Given the description of an element on the screen output the (x, y) to click on. 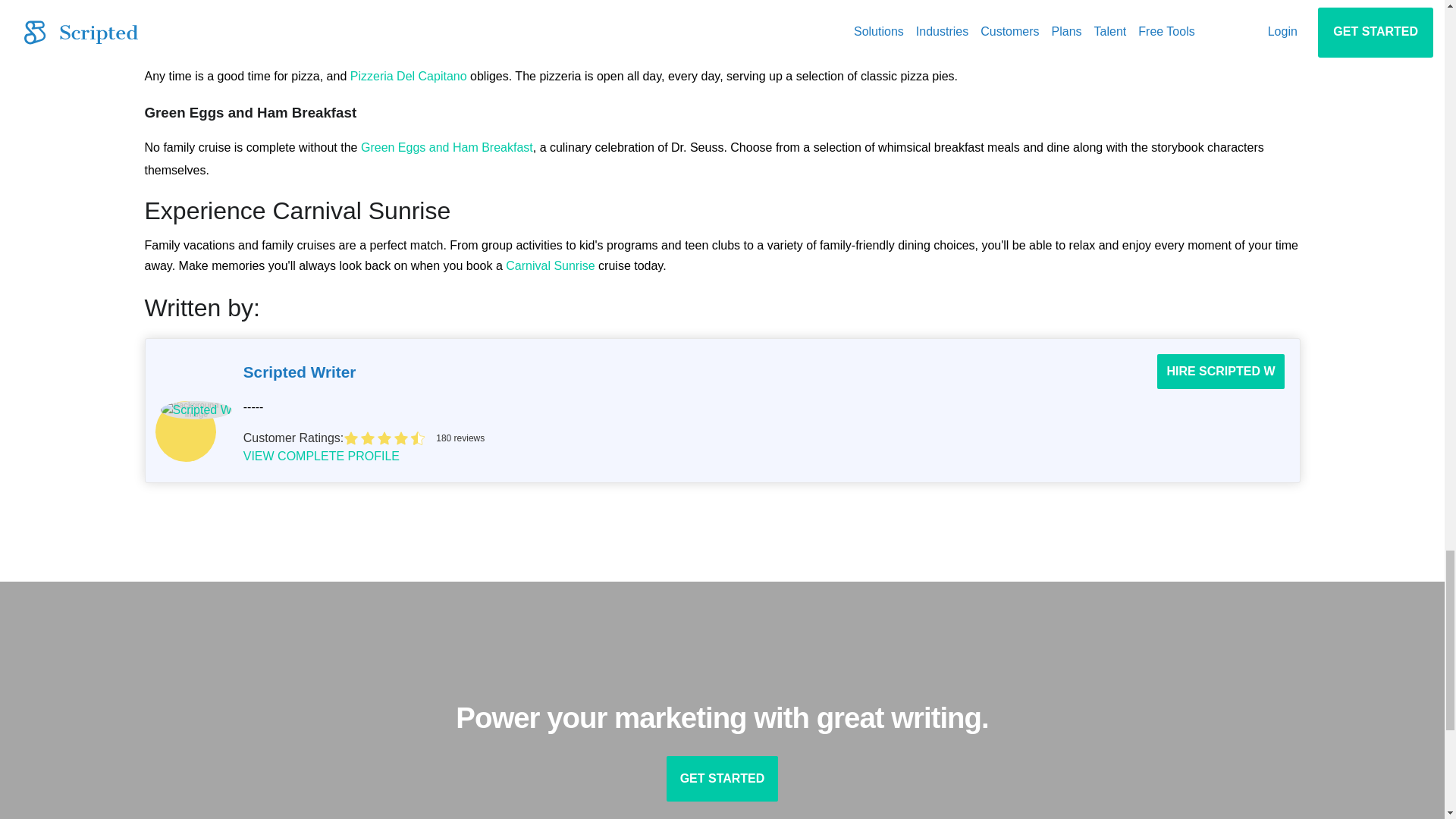
4.8 Average Rating (813, 437)
